Given the description of an element on the screen output the (x, y) to click on. 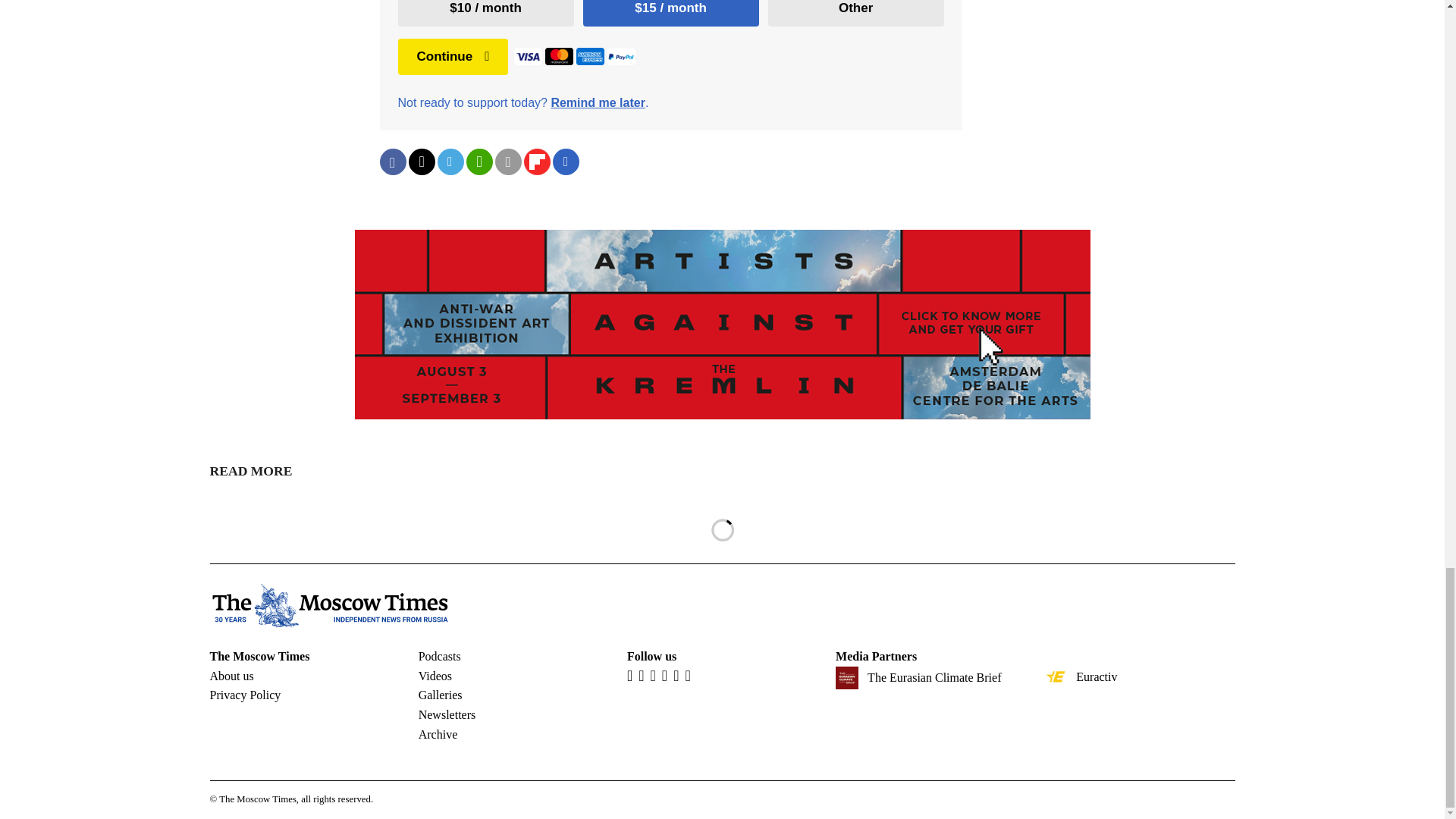
Share on Facebook (392, 161)
Share on Flipboard (536, 161)
Share on Twitter (420, 161)
Share on Telegram (449, 161)
